Given the description of an element on the screen output the (x, y) to click on. 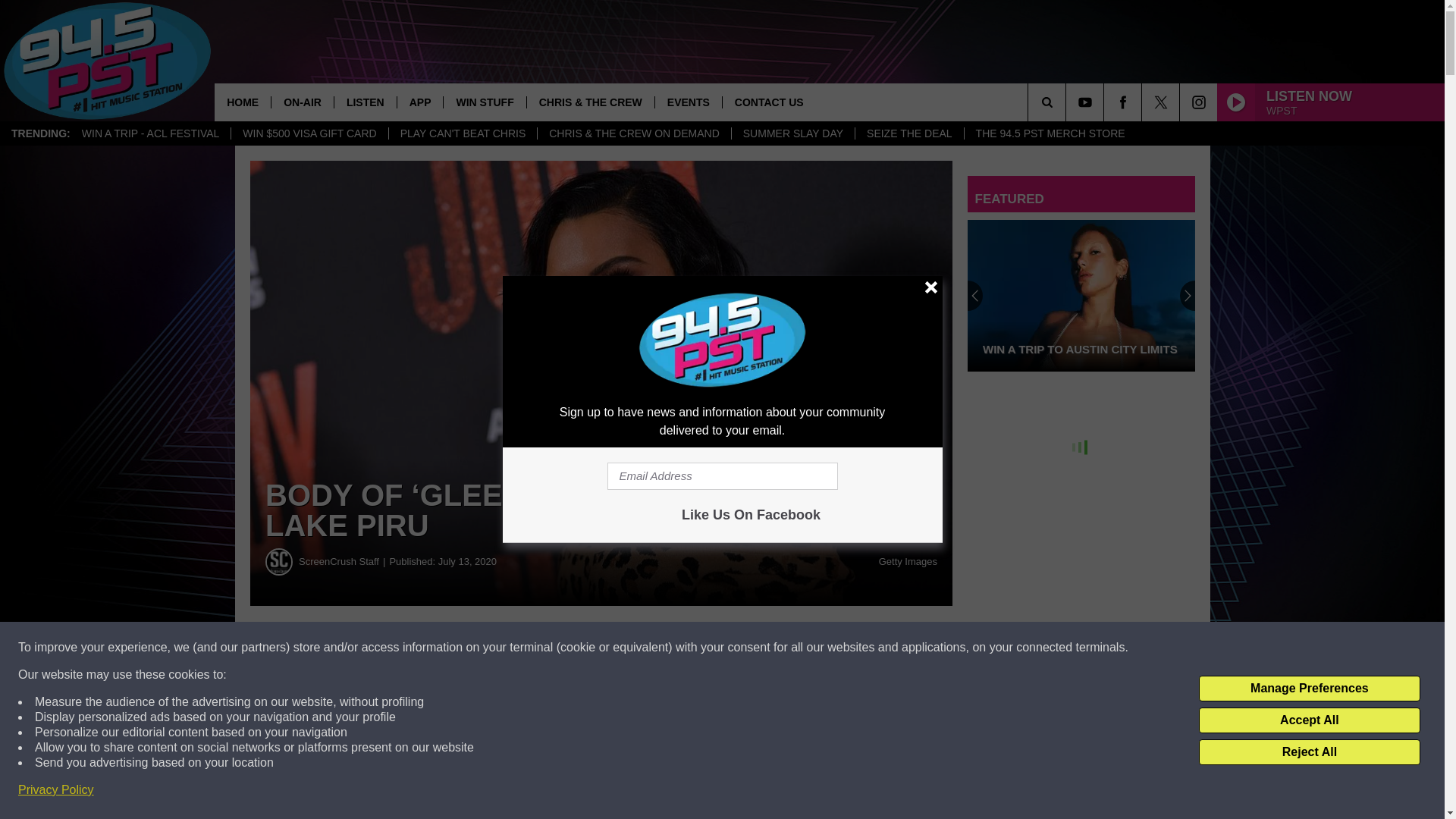
WIN STUFF (483, 102)
THE 94.5 PST MERCH STORE (1050, 133)
APP (420, 102)
Reject All (1309, 751)
WIN A TRIP - ACL FESTIVAL (150, 133)
Share on Facebook (413, 647)
ON-AIR (301, 102)
Manage Preferences (1309, 688)
LISTEN (364, 102)
Print this page (787, 647)
Share on Twitter (600, 647)
SEIZE THE DEAL (908, 133)
SEARCH (1068, 102)
HOME (242, 102)
SUMMER SLAY DAY (792, 133)
